Given the description of an element on the screen output the (x, y) to click on. 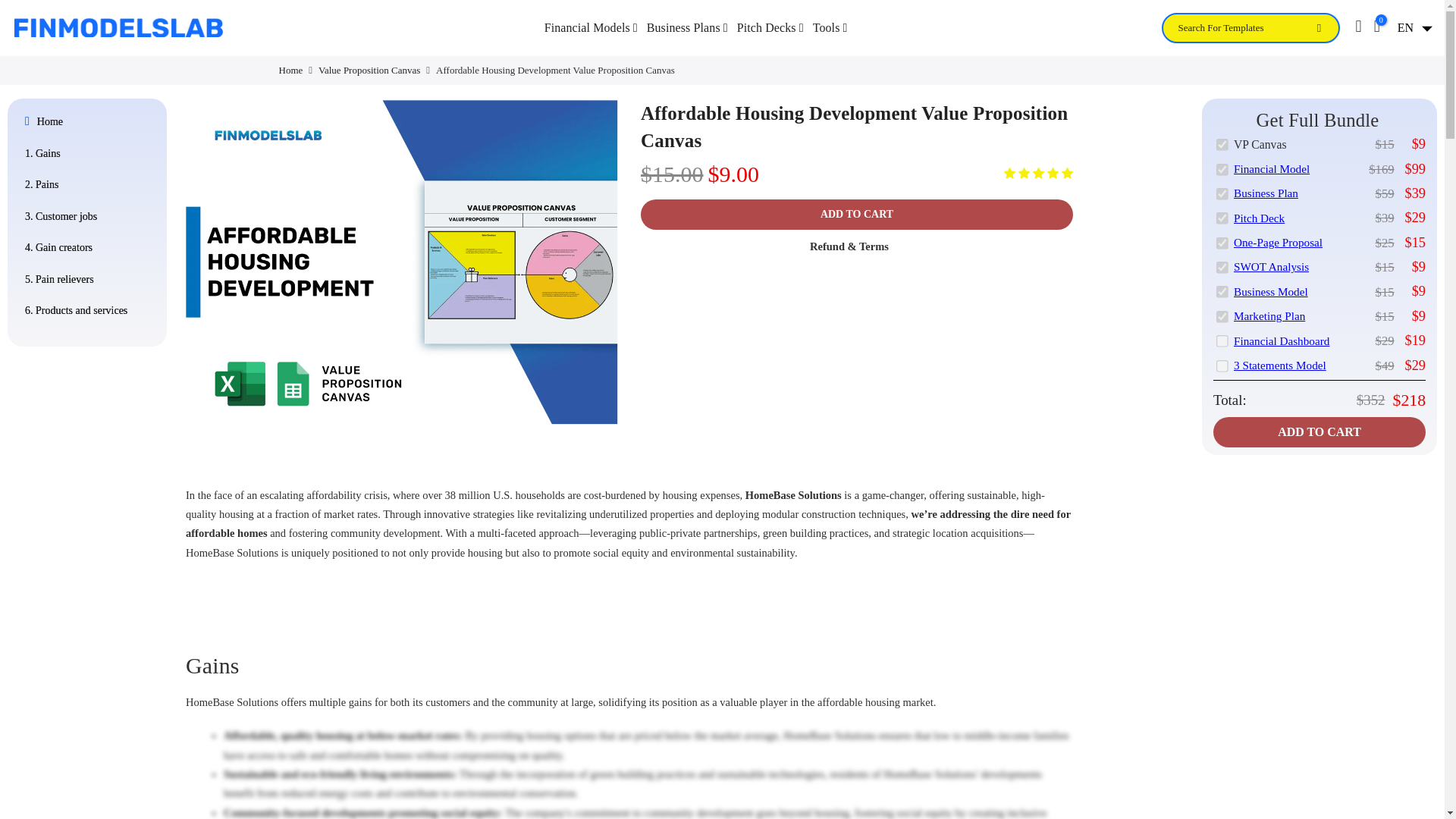
43857566171379 (1220, 168)
EN (1412, 28)
Value Proposition Canvas (369, 70)
Financial Models (591, 27)
37952215056570 (1220, 339)
Financial Model (1270, 168)
44908317540595 (1220, 316)
Home (290, 70)
Home (90, 122)
45774097907955 (1220, 216)
